Given the description of an element on the screen output the (x, y) to click on. 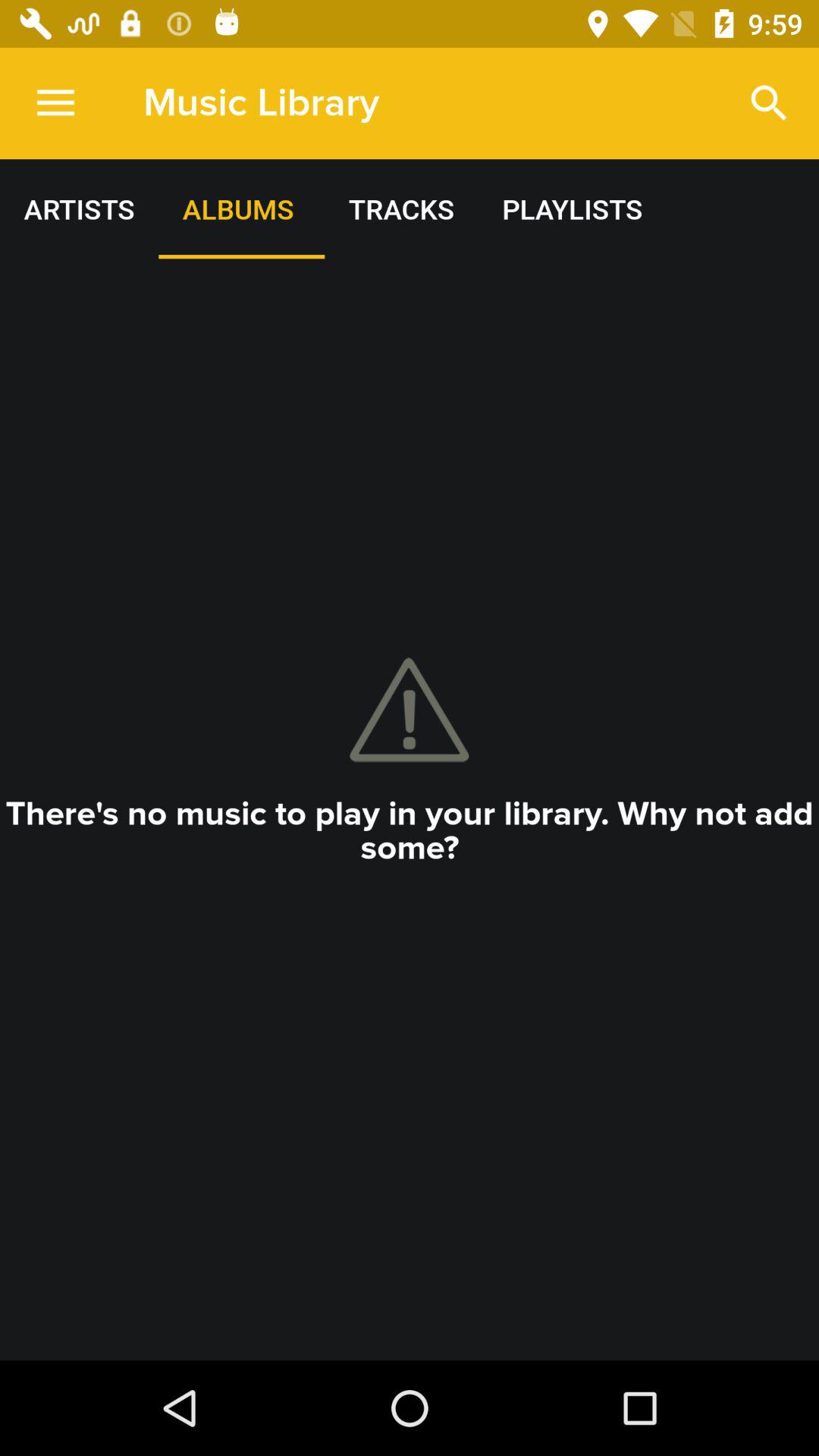
click the icon next to music library item (55, 103)
